Given the description of an element on the screen output the (x, y) to click on. 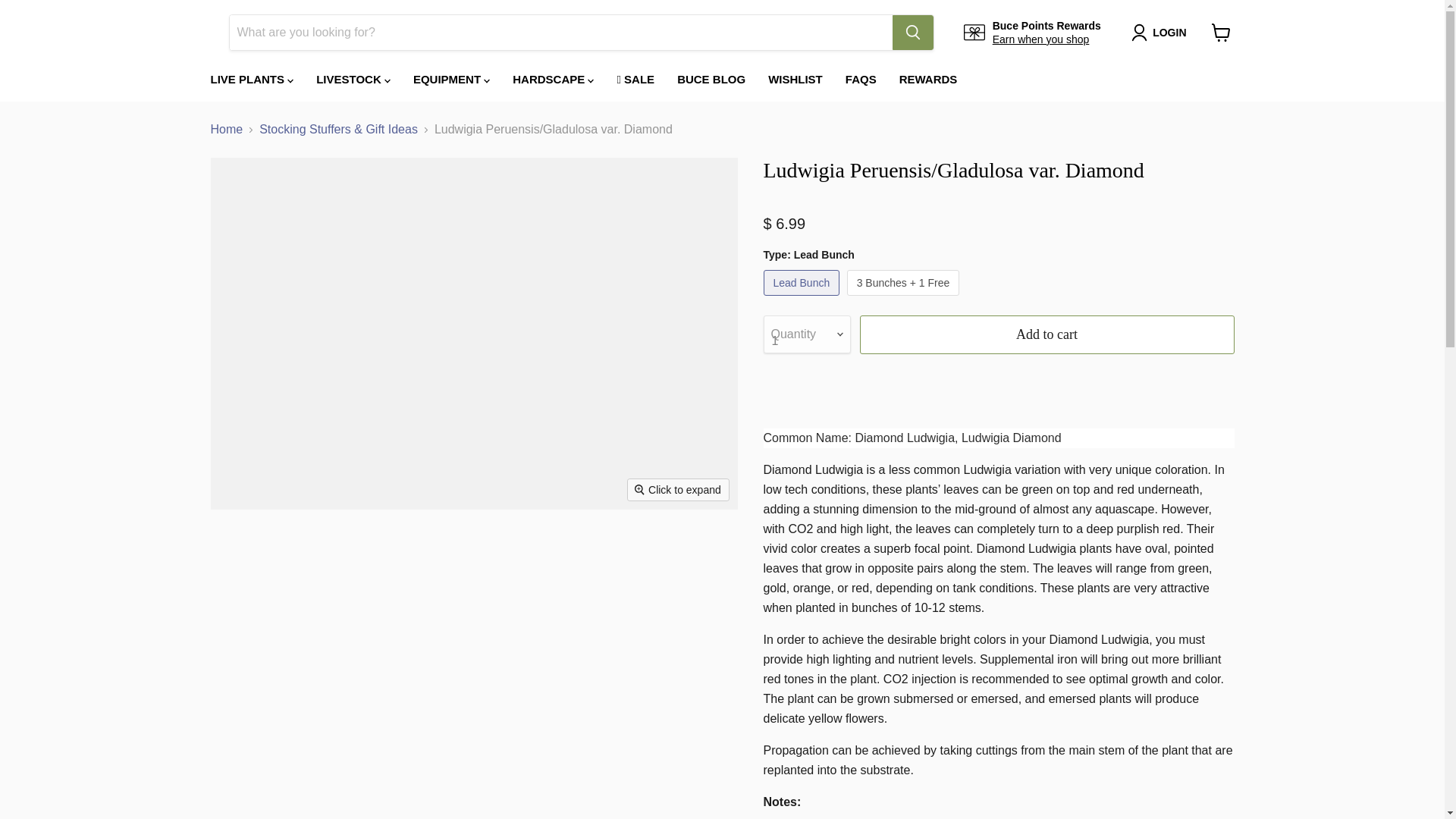
BuceRewards (1040, 39)
View cart (1221, 32)
LOGIN (1169, 32)
Earn when you shop (1040, 39)
